Given the description of an element on the screen output the (x, y) to click on. 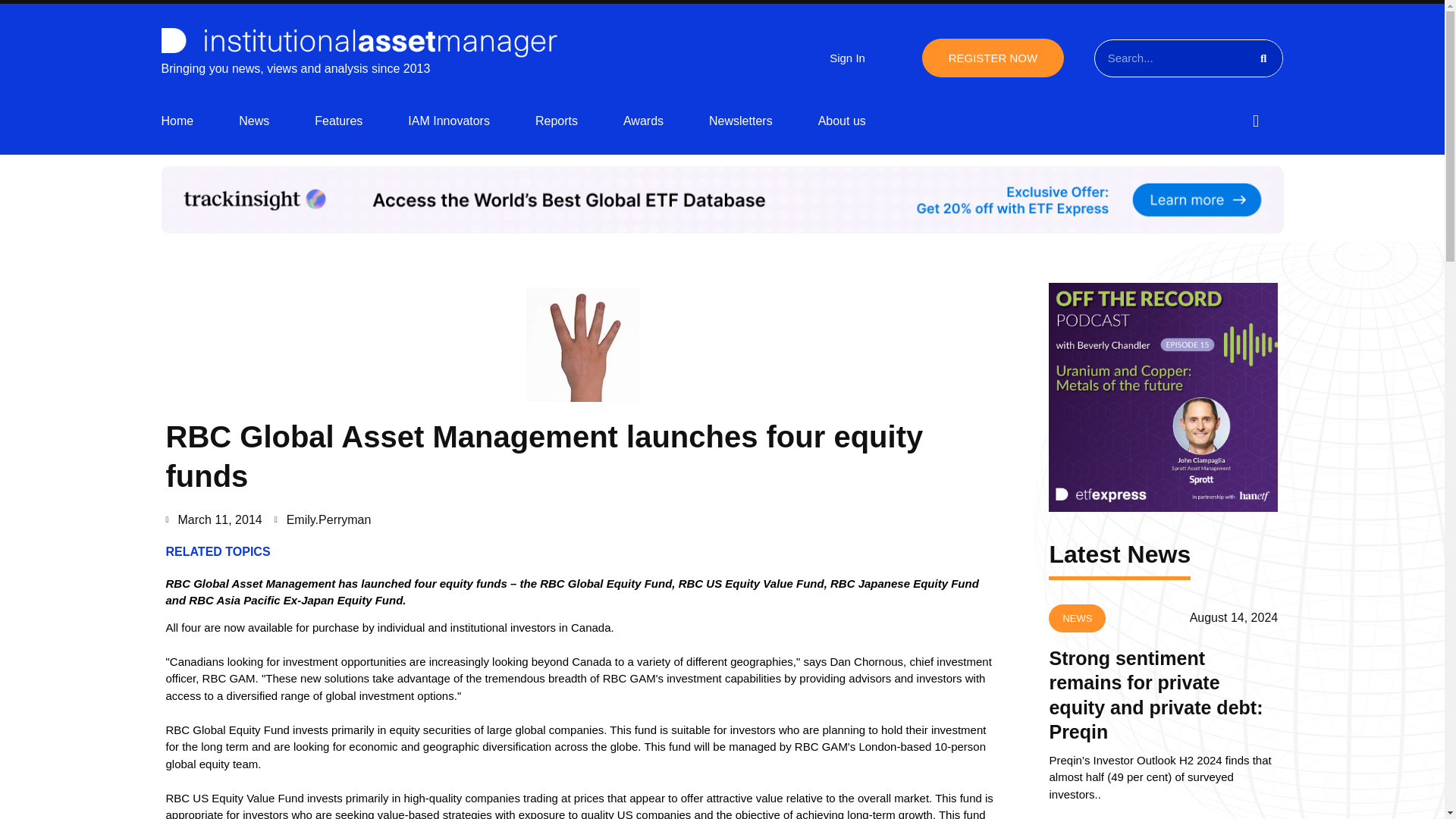
About us (842, 121)
IAM Innovators (448, 121)
Newsletters (741, 121)
Home (176, 121)
Features (338, 121)
Reports (556, 121)
Awards (643, 121)
Sign In (847, 57)
REGISTER NOW (992, 57)
